Given the description of an element on the screen output the (x, y) to click on. 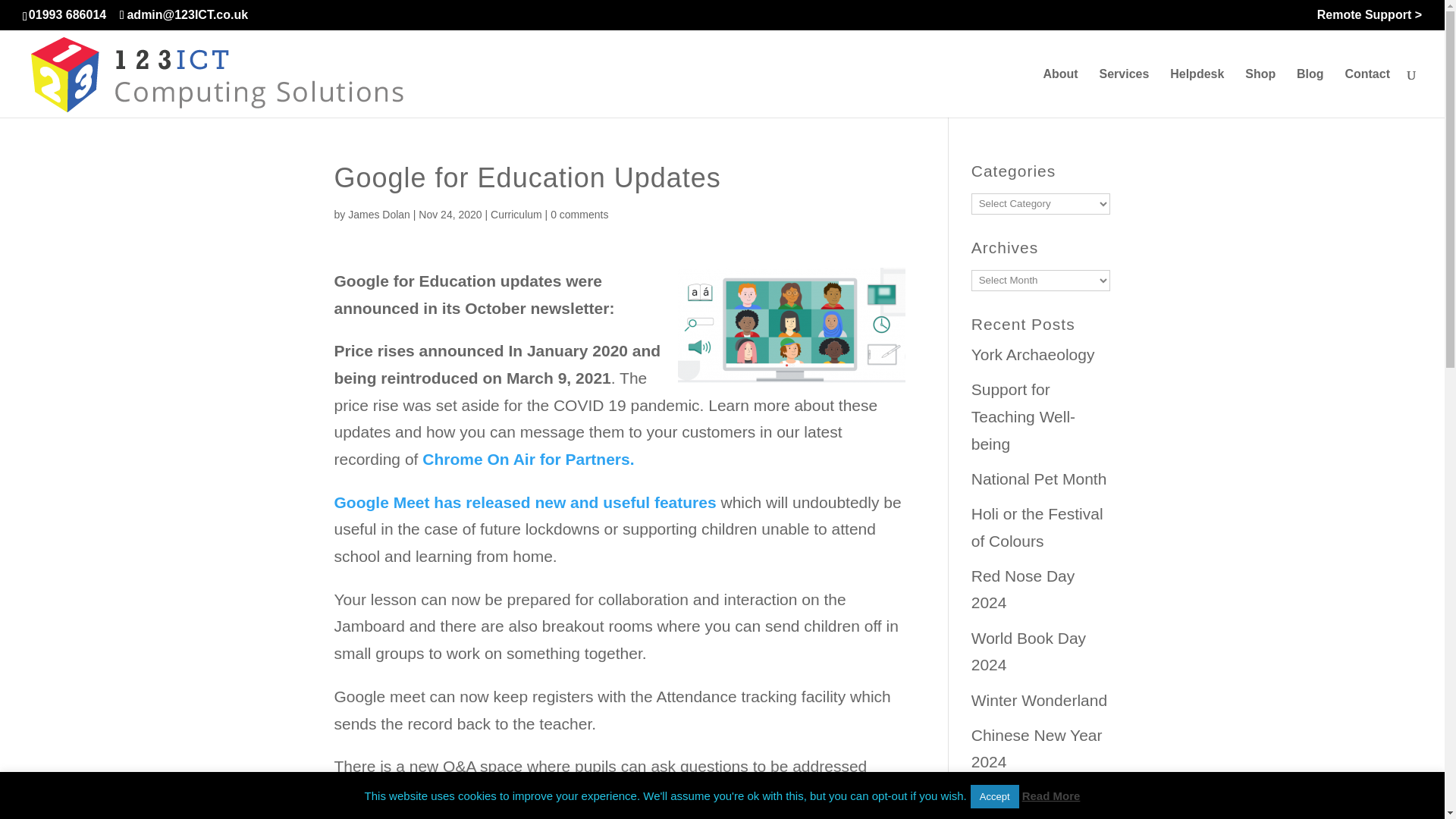
Services (1124, 92)
Chinese New Year 2024 (1036, 748)
Helpdesk (1197, 92)
York Archaeology (1032, 354)
James Dolan (378, 214)
Red Nose Day 2024 (1023, 589)
Google Meet has released new and useful features (524, 502)
Contact (1366, 92)
Chrome On Air for Partners. (527, 458)
National Pet Month (1038, 478)
0 comments (579, 214)
Winter Wonderland (1038, 700)
Curriculum (515, 214)
Posts by James Dolan (378, 214)
World Book Day 2024 (1028, 651)
